Given the description of an element on the screen output the (x, y) to click on. 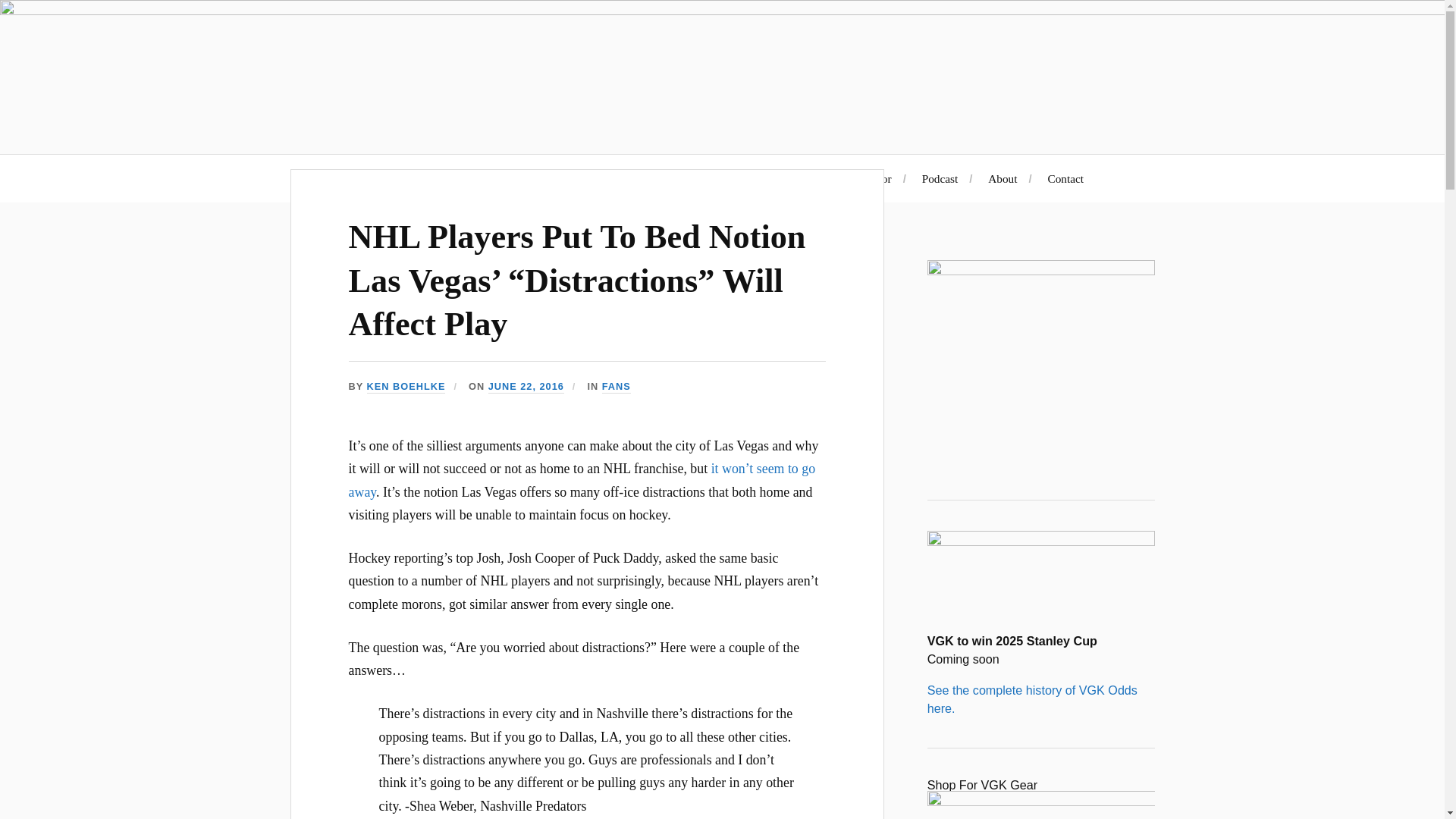
JUNE 22, 2016 (525, 386)
Inscriptagraphs Memorabilia (662, 178)
FANS (616, 386)
KEN BOEHLKE (405, 386)
Posts by Ken Boehlke (405, 386)
Prospects (783, 178)
The Creator (863, 178)
